Given the description of an element on the screen output the (x, y) to click on. 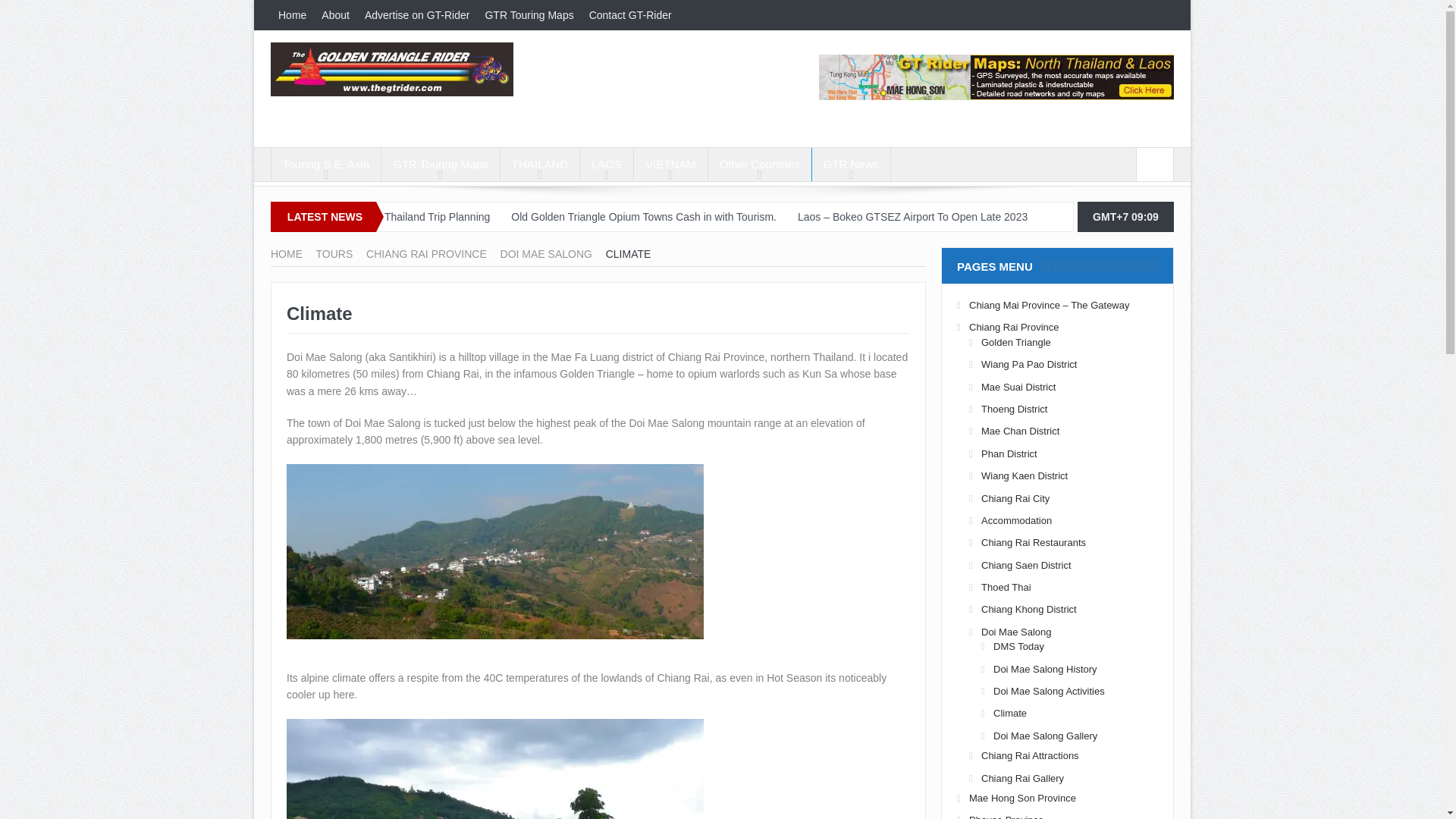
Advertise on GT-Rider (416, 15)
Contact GT-Rider (629, 15)
About (335, 15)
Home (292, 15)
Touring S.E. Asia (325, 164)
S.E. Asia Touring Overview (325, 164)
GTR Touring Maps (528, 15)
